Given the description of an element on the screen output the (x, y) to click on. 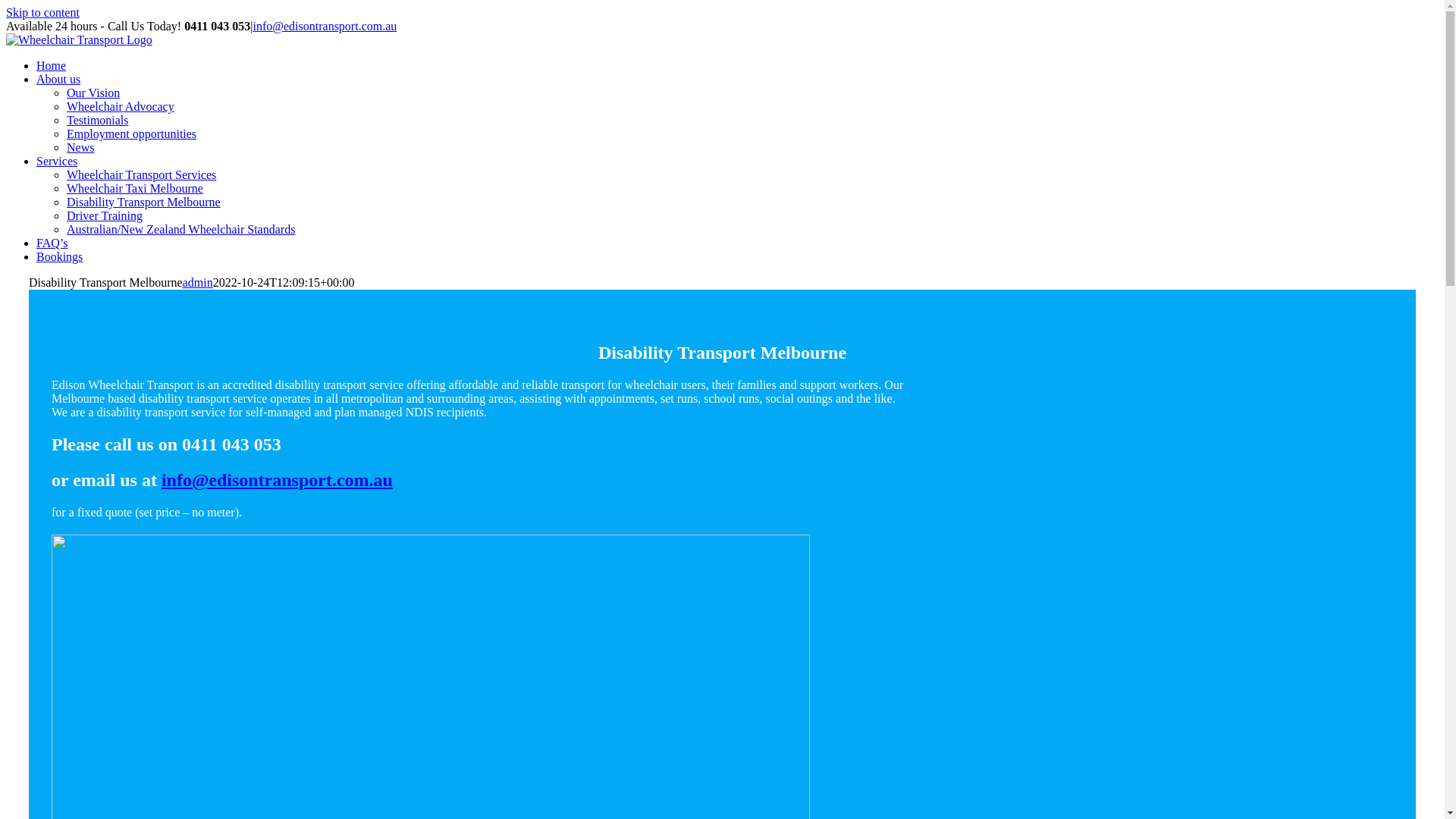
info@edisontransport.com.au Element type: text (324, 25)
Wheelchair Transport Services Element type: text (141, 174)
admin Element type: text (197, 282)
About us Element type: text (58, 78)
Driver Training Element type: text (104, 215)
info@edisontransport.com.au Element type: text (276, 479)
Disability Transport Melbourne Element type: text (143, 201)
Employment opportunities Element type: text (131, 133)
Services Element type: text (56, 160)
Bookings Element type: text (59, 256)
Wheelchair Taxi Melbourne Element type: text (134, 188)
Wheelchair Advocacy Element type: text (120, 106)
Home Element type: text (50, 65)
News Element type: text (80, 147)
Testimonials Element type: text (97, 119)
Australian/New Zealand Wheelchair Standards Element type: text (180, 228)
Skip to content Element type: text (42, 12)
Our Vision Element type: text (92, 92)
